Given the description of an element on the screen output the (x, y) to click on. 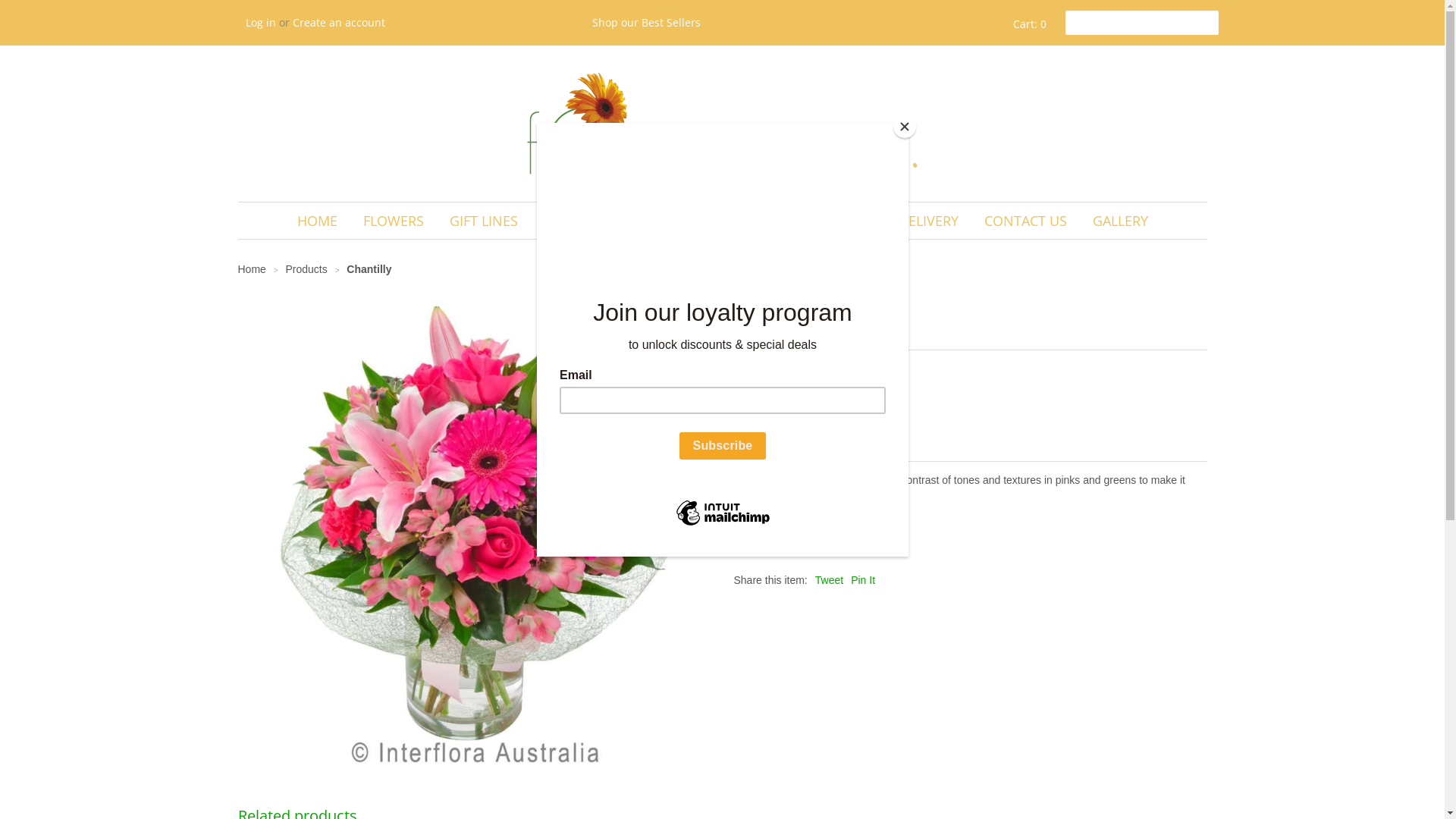
DELIVERY Element type: text (928, 220)
NEW IN Element type: text (656, 220)
Pin It Element type: text (862, 580)
GALLERY Element type: text (1120, 220)
Cart: 0 Element type: text (1027, 23)
GIFT LINES Element type: text (483, 220)
Home Element type: text (252, 269)
HOME Element type: text (316, 220)
Tweet Element type: text (829, 580)
Add to cart Element type: text (773, 431)
HAMPERS Element type: text (574, 220)
Create an account Element type: text (338, 22)
Products Element type: text (307, 269)
Log in Element type: text (260, 22)
Best Sellers Element type: text (670, 22)
CONTACT US Element type: text (1024, 220)
CHRISTMAS Element type: text (742, 220)
FLOWERS Element type: text (393, 220)
ABOUT US Element type: text (839, 220)
